Given the description of an element on the screen output the (x, y) to click on. 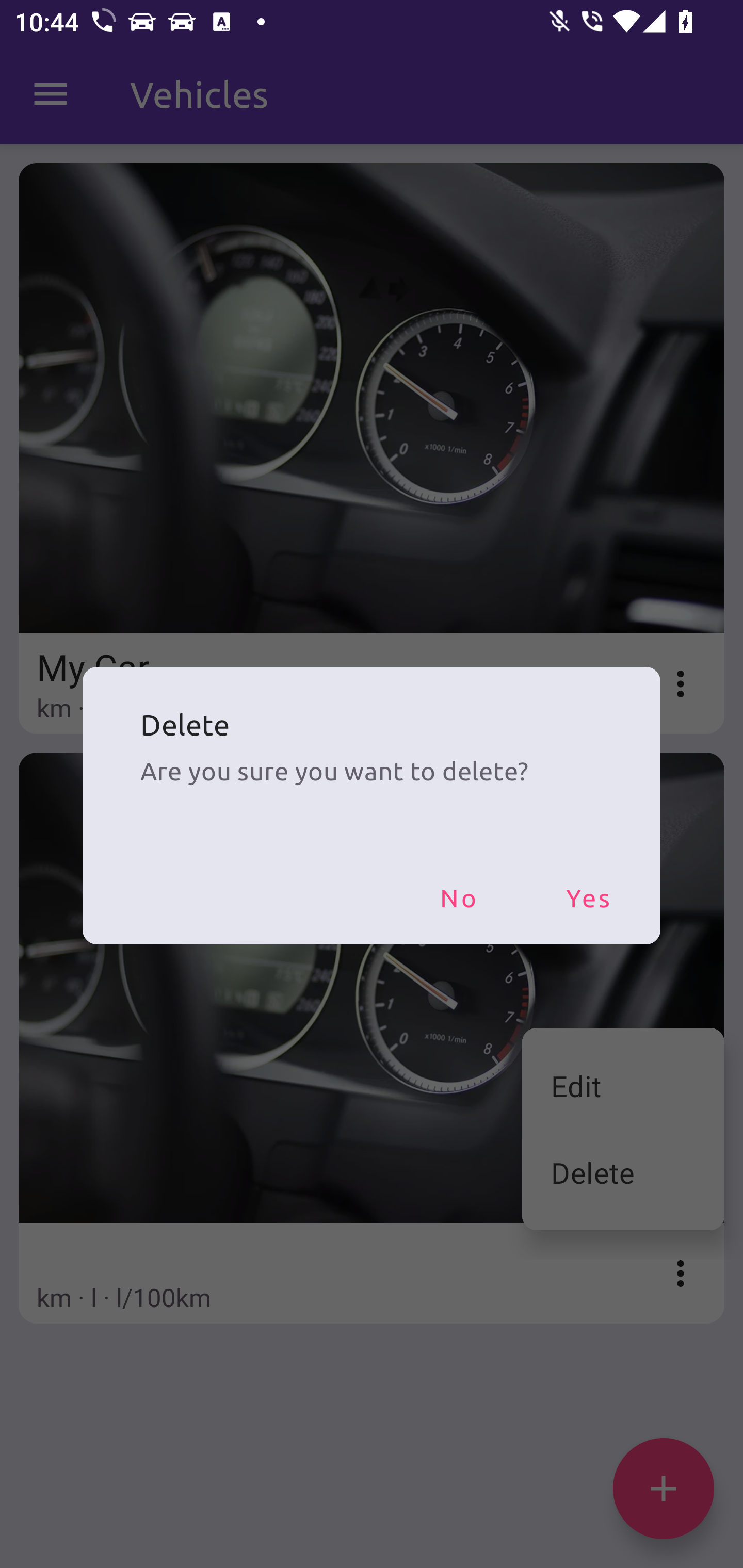
No (457, 897)
Yes (587, 897)
